Given the description of an element on the screen output the (x, y) to click on. 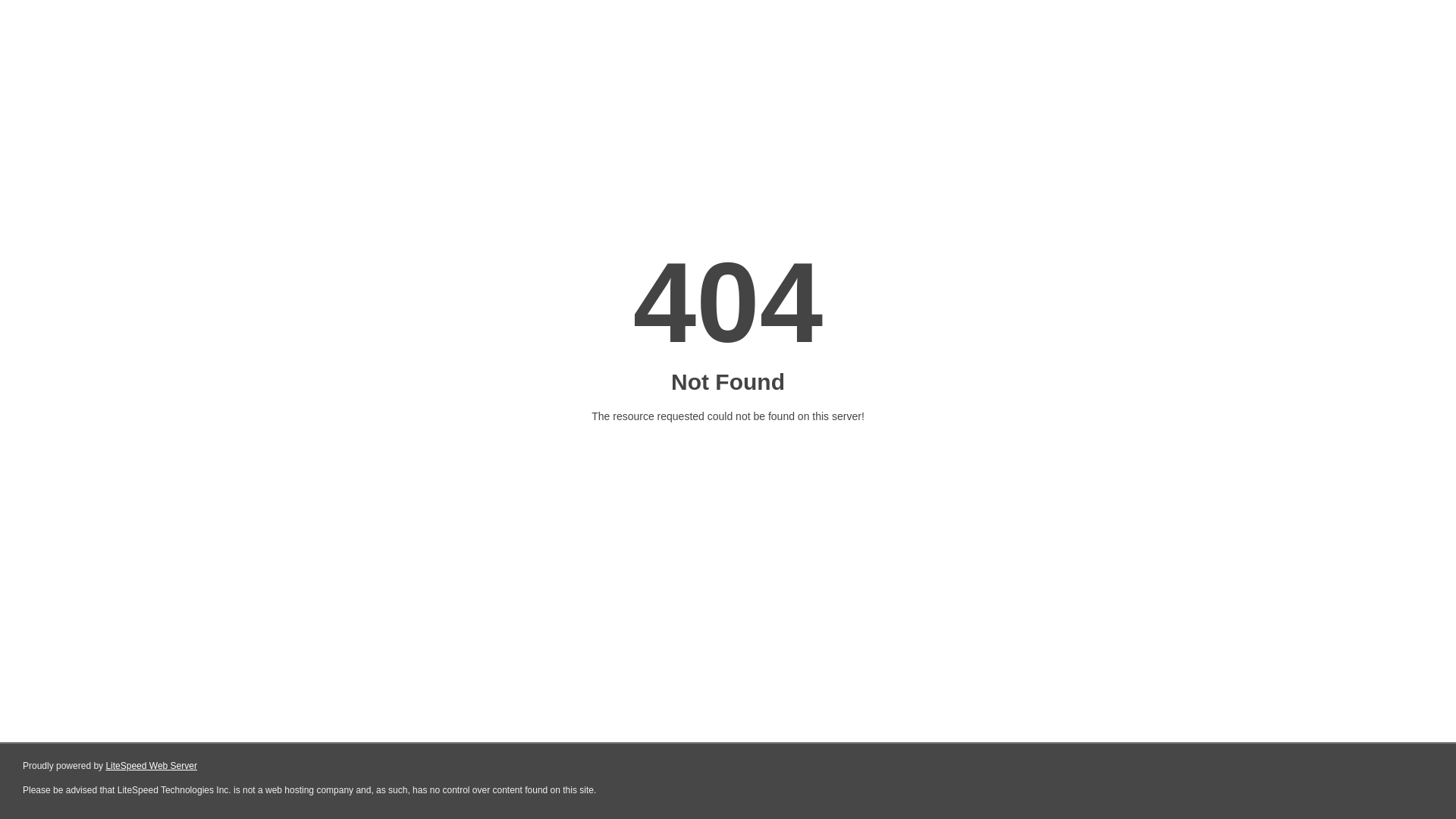
LiteSpeed Web Server Element type: text (151, 765)
